Given the description of an element on the screen output the (x, y) to click on. 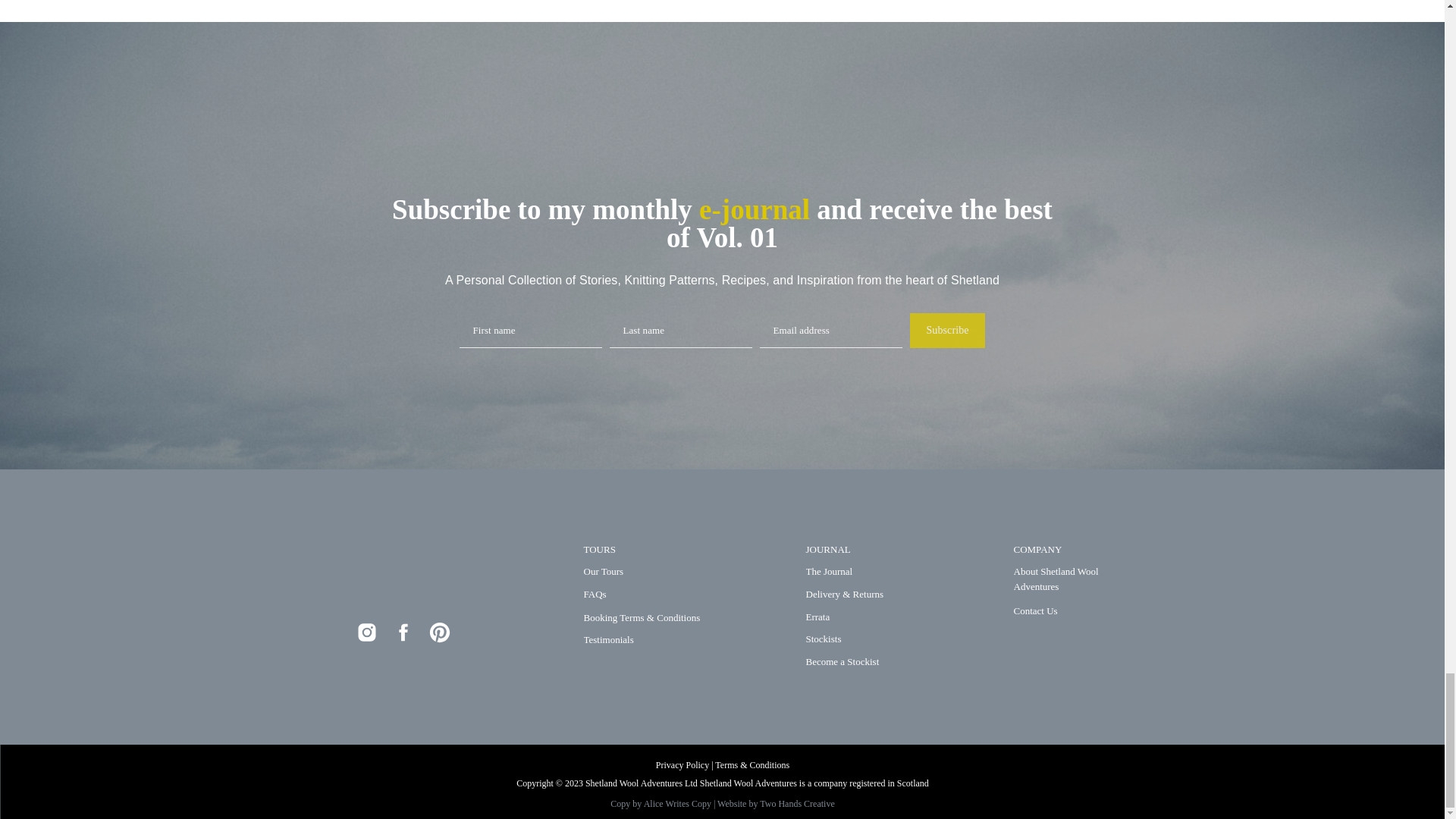
Alice Writes Copy (678, 803)
Subscribe (947, 330)
